Given the description of an element on the screen output the (x, y) to click on. 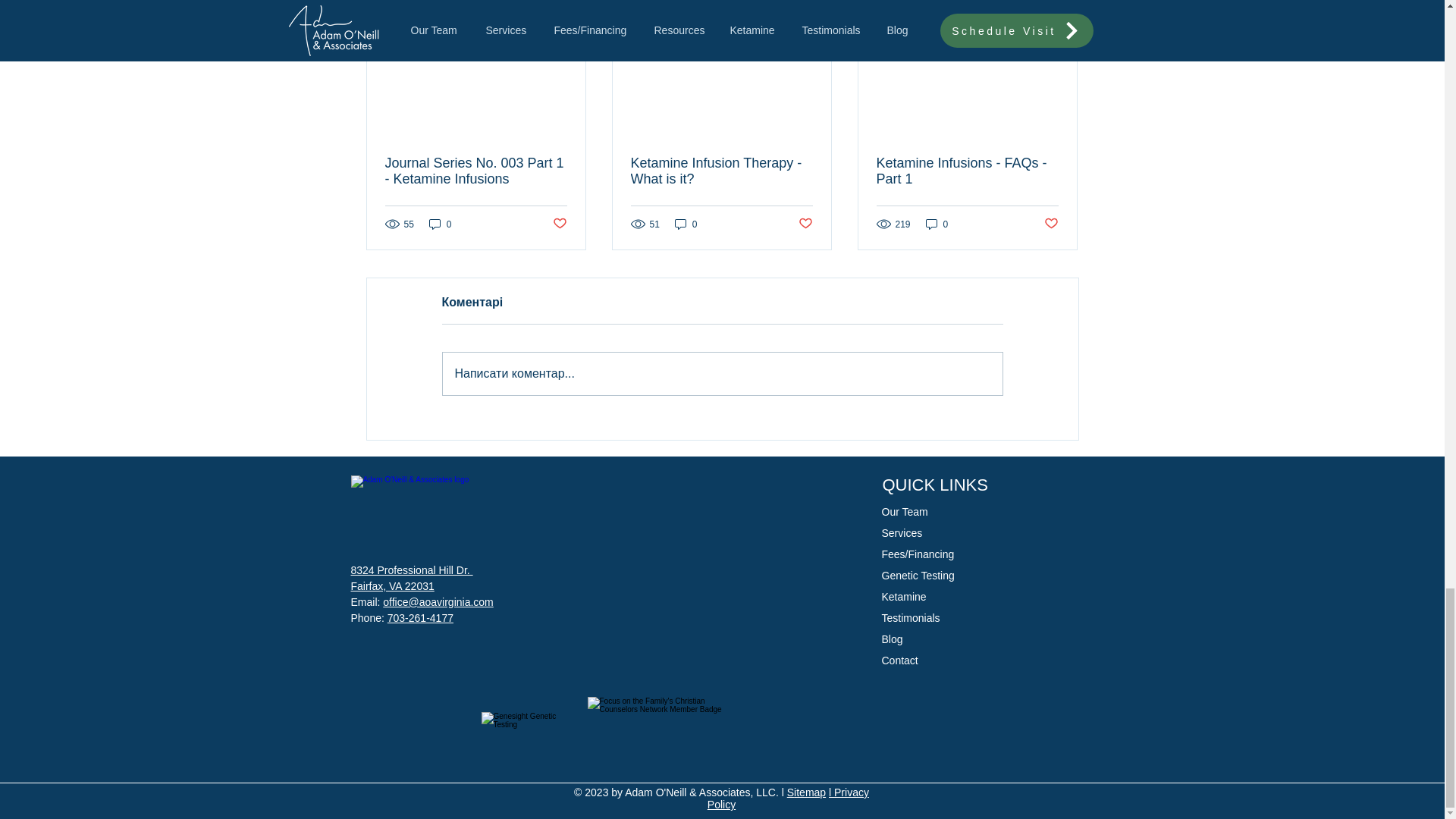
Registered GeneSight Provider Badge.png (523, 729)
Post not marked as liked (1050, 223)
0 (937, 223)
Ketamine Infusions - FAQs - Part 1 (967, 171)
Post not marked as liked (558, 223)
0 (440, 223)
0 (685, 223)
Ketamine Infusion Therapy - What is it? (721, 171)
8324 Professional Hill Dr.  (410, 570)
Post not marked as liked (804, 223)
Journal Series No. 003 Part 1 - Ketamine Infusions (476, 171)
